Given the description of an element on the screen output the (x, y) to click on. 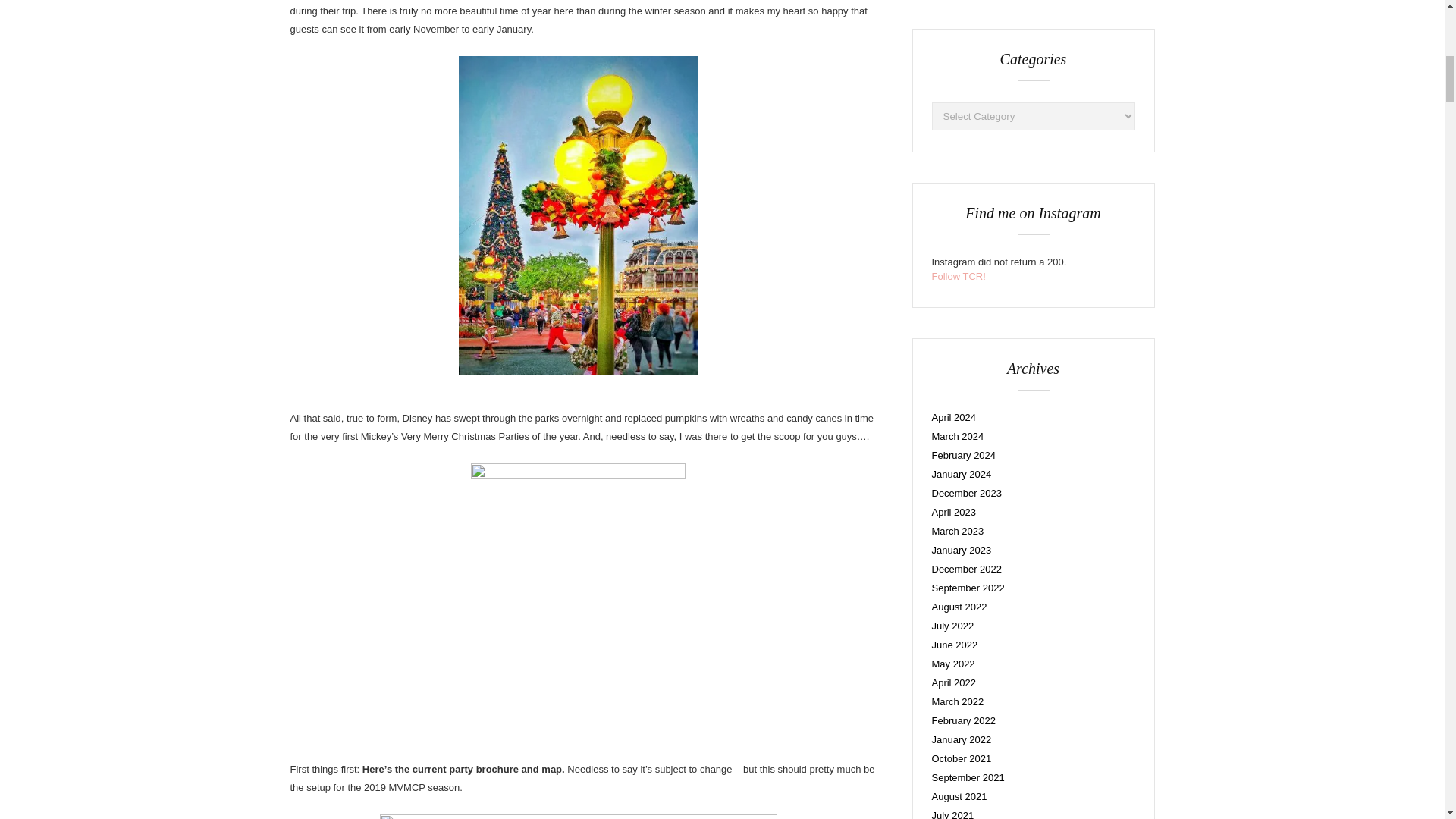
Follow TCR! (958, 276)
January 2023 (961, 550)
February 2024 (963, 455)
March 2024 (957, 436)
December 2023 (966, 492)
April 2023 (953, 511)
March 2023 (957, 531)
April 2024 (953, 417)
January 2024 (961, 473)
